Given the description of an element on the screen output the (x, y) to click on. 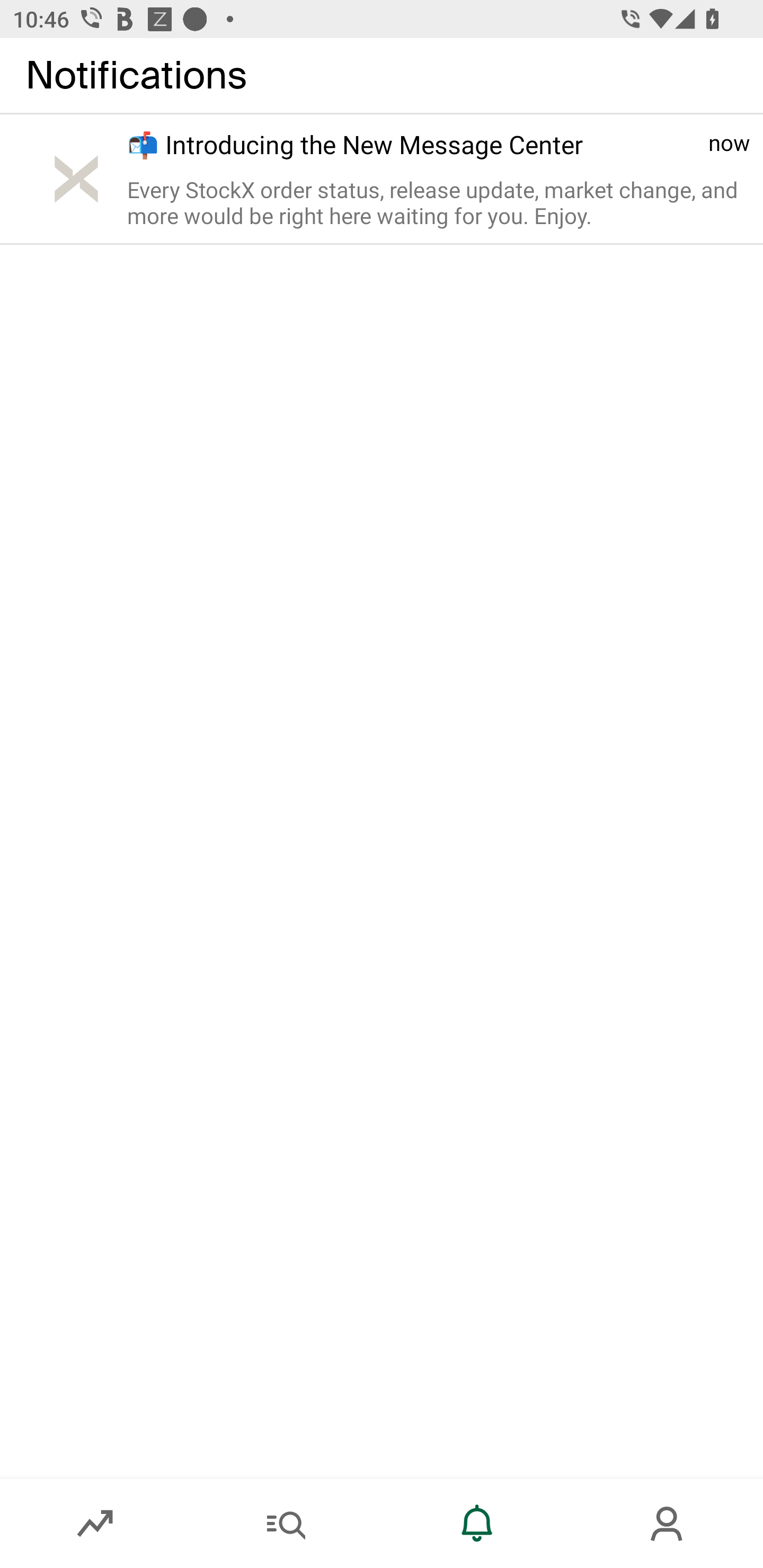
Market (95, 1523)
Search (285, 1523)
Account (667, 1523)
